Given the description of an element on the screen output the (x, y) to click on. 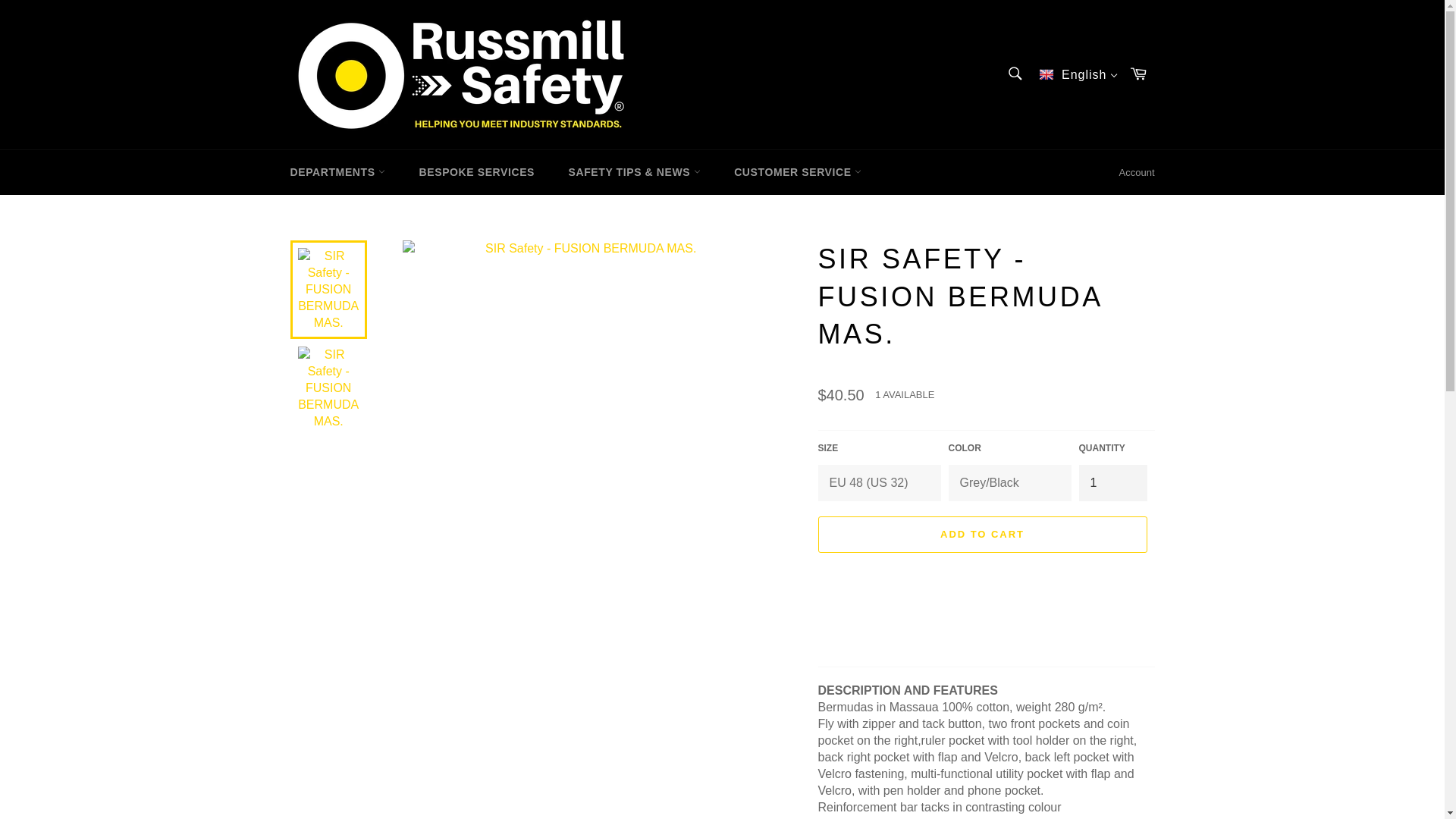
1 (1112, 483)
